Given the description of an element on the screen output the (x, y) to click on. 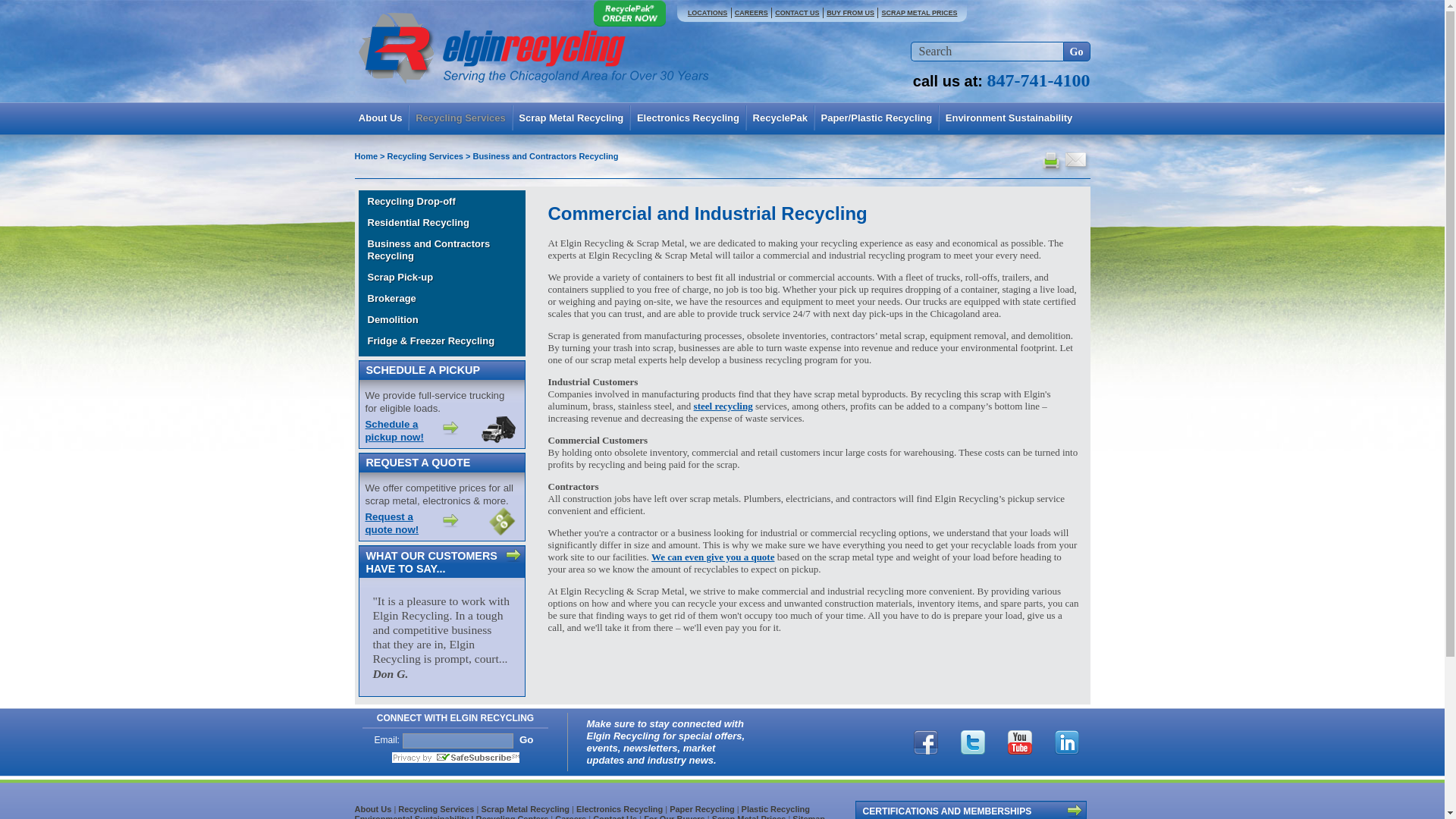
CONTACT US (796, 12)
Scrap Metal Recycling (571, 117)
Profile us on LinkedIn (1066, 740)
Watch us on YouTube (1019, 740)
Electronics Recycling (687, 117)
CAREERS (750, 12)
Email Page (1075, 161)
SCRAP METAL PRICES (917, 12)
BUY FROM US (849, 12)
847-741-4100 (1038, 80)
Go (1076, 51)
Recycling Services (460, 117)
Print Page (1051, 162)
About Us (380, 117)
Like us on Facebook (925, 740)
